Given the description of an element on the screen output the (x, y) to click on. 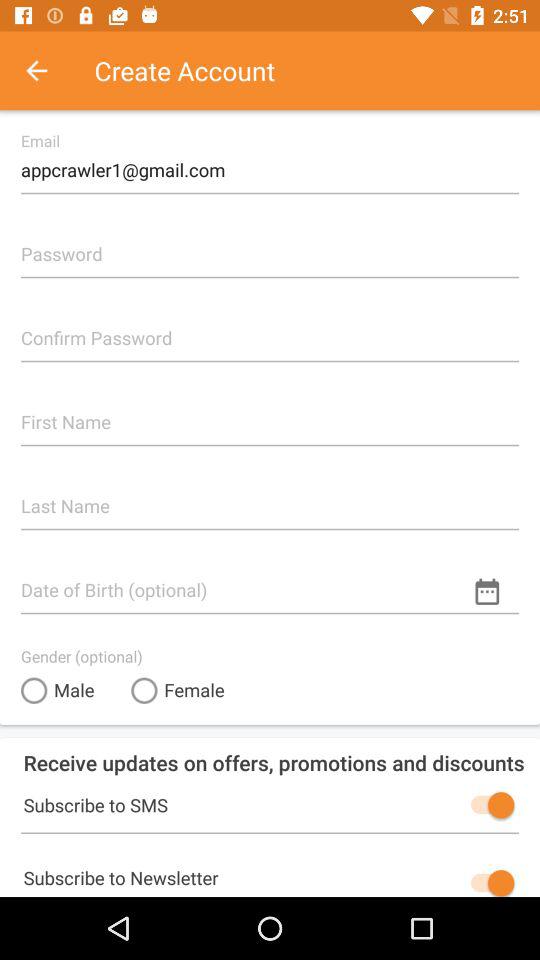
type aver password (270, 329)
